Given the description of an element on the screen output the (x, y) to click on. 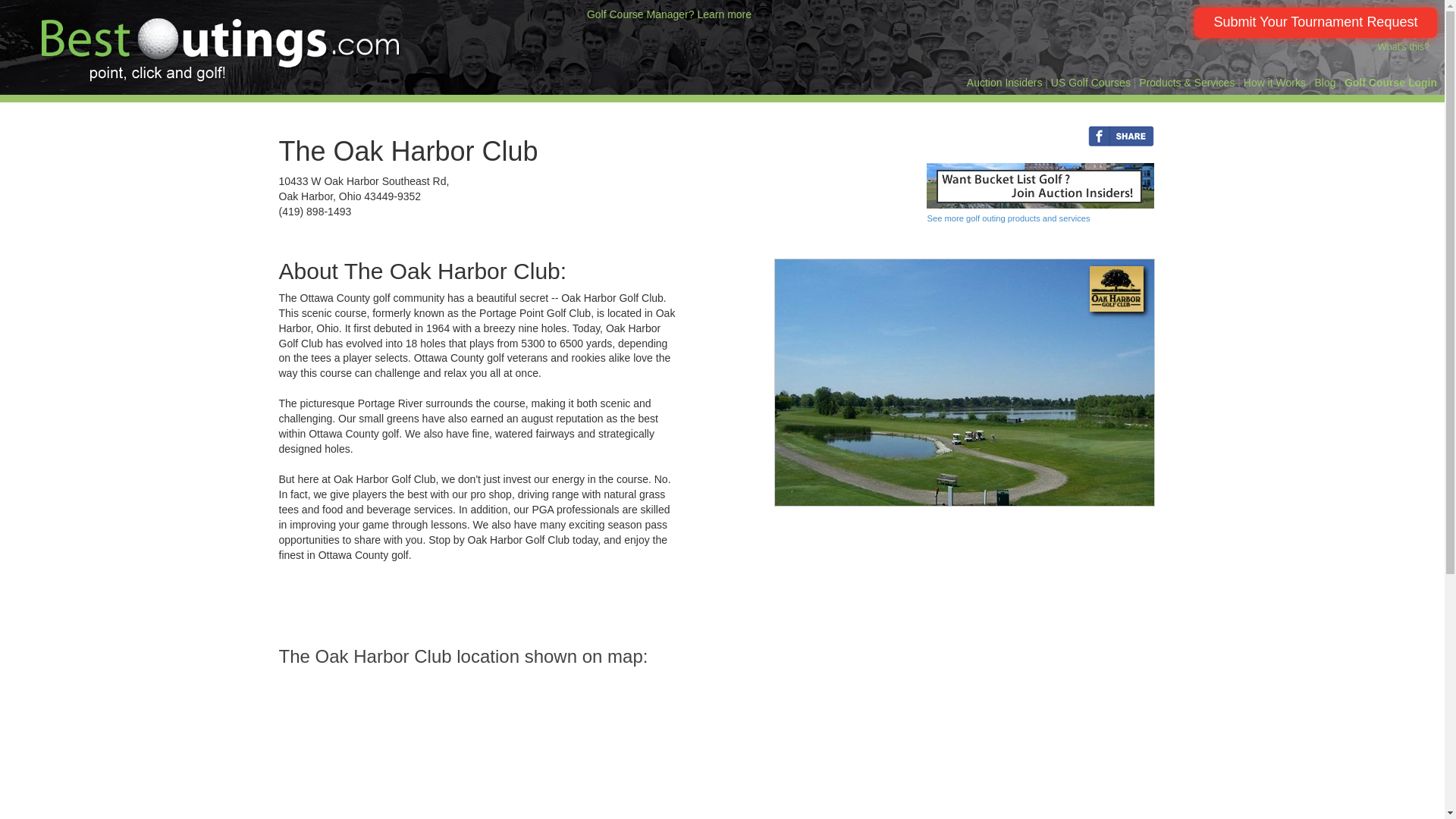
What's this? (1403, 46)
Gain access to exclusive private golf clubs (1004, 82)
Sell more outings and efficiently manage donation requests! (668, 14)
Share (981, 134)
How it Works (1274, 82)
See more golf outing products and services (1007, 217)
US Golf Courses (1091, 82)
United states Golf Course Directory (1091, 82)
Blog (1324, 82)
For Golf Course Managers (1390, 82)
Golf Outing Products and Services Directory (1186, 82)
Auction Insiders (1004, 82)
Golf Course Login (1390, 82)
Golf Course Manager? Learn more (668, 14)
...and we'll send it to all of the top area golf courses! (1315, 22)
